Given the description of an element on the screen output the (x, y) to click on. 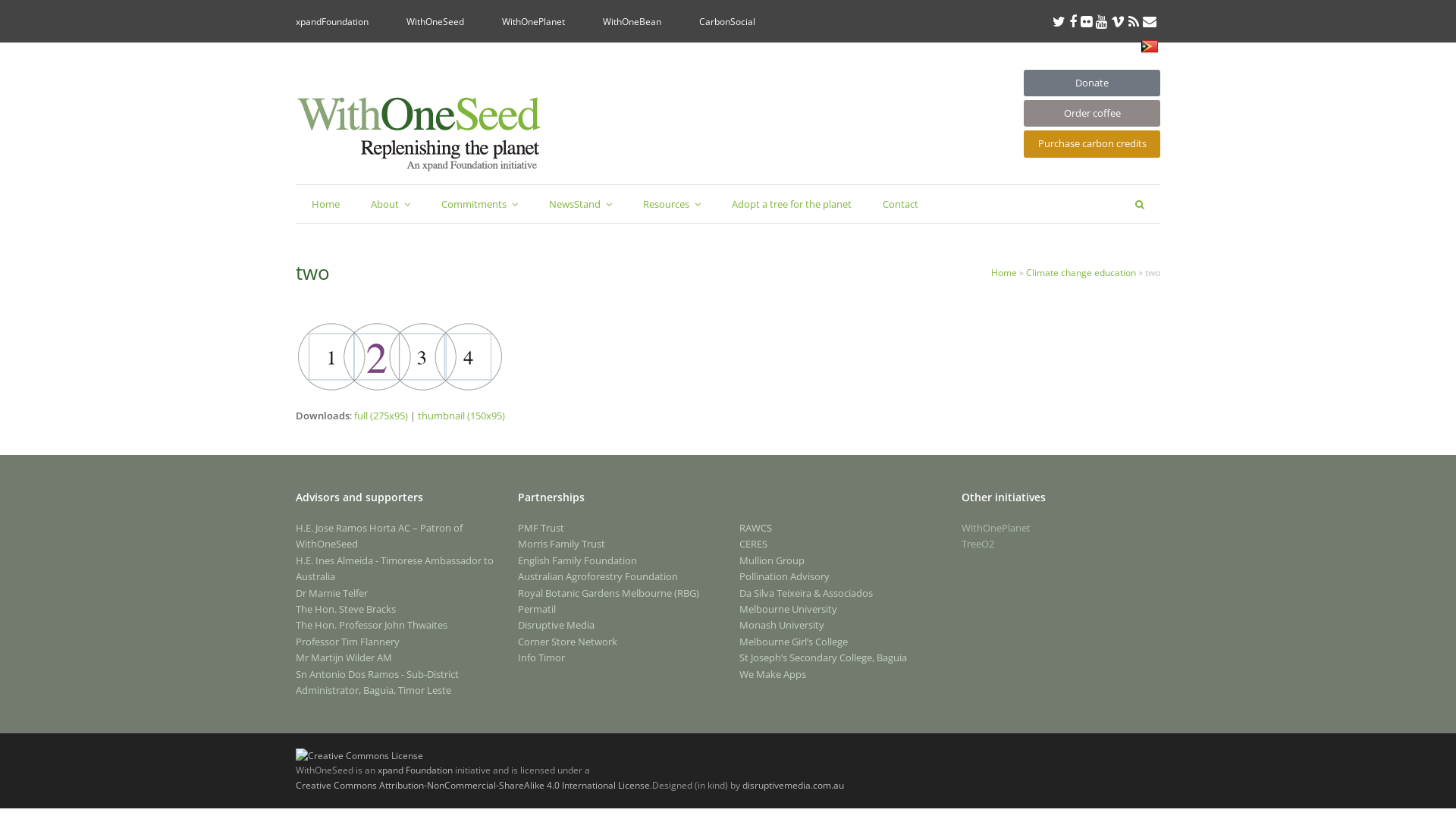
WithOnePlanet Element type: text (533, 21)
thumbnail (150x95) Element type: text (461, 415)
WithOneBean Element type: text (631, 21)
NewsStand Element type: text (580, 203)
xpandFoundation Element type: text (331, 21)
xpand Foundation Element type: text (414, 769)
Climate change education Element type: text (1080, 272)
Twitter Element type: text (1058, 21)
Adopt a tree for the planet Element type: text (791, 203)
disruptivemedia.com.au Element type: text (793, 784)
WithOnePlanet Element type: text (995, 527)
Contact Element type: text (900, 203)
Commitments Element type: text (479, 203)
About Element type: text (390, 203)
Resources Element type: text (671, 203)
CarbonSocial Element type: text (727, 21)
Email Element type: text (1149, 21)
WithOneSeed Element type: text (435, 21)
Purchase carbon credits Element type: text (1091, 143)
TreeO2 Element type: text (977, 543)
RSS Element type: text (1133, 21)
Home Element type: text (325, 203)
Home Element type: text (1003, 272)
Order coffee Element type: text (1091, 113)
Flickr Element type: text (1086, 21)
Facebook Element type: text (1072, 21)
Donate Element type: text (1091, 82)
Vimeo Element type: text (1117, 21)
Youtube Element type: text (1101, 21)
full (275x95) Element type: text (380, 415)
